Given the description of an element on the screen output the (x, y) to click on. 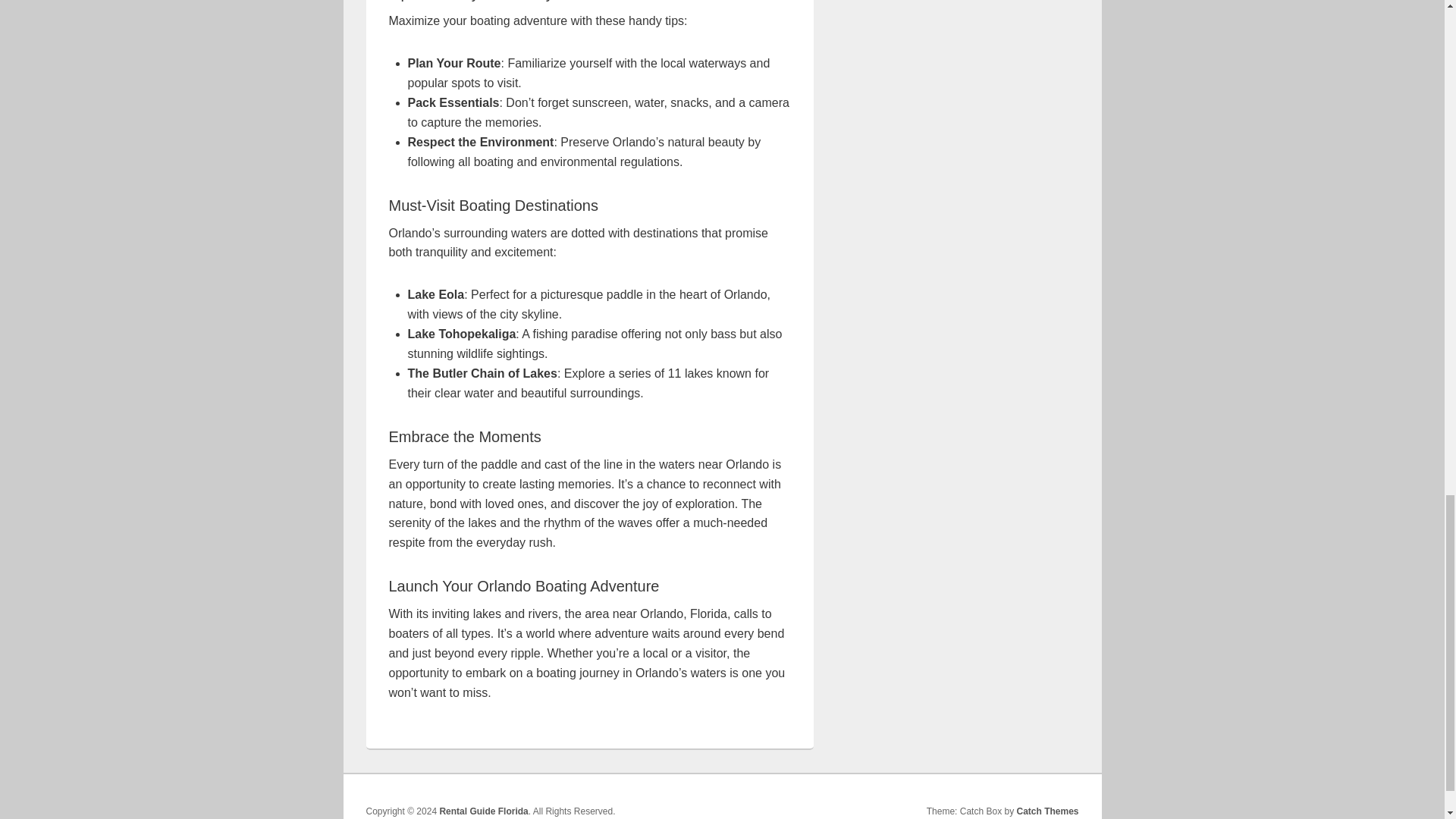
Catch Themes (1047, 810)
Catch Themes (1047, 810)
Rental Guide Florida (483, 810)
Rental Guide Florida (483, 810)
